Given the description of an element on the screen output the (x, y) to click on. 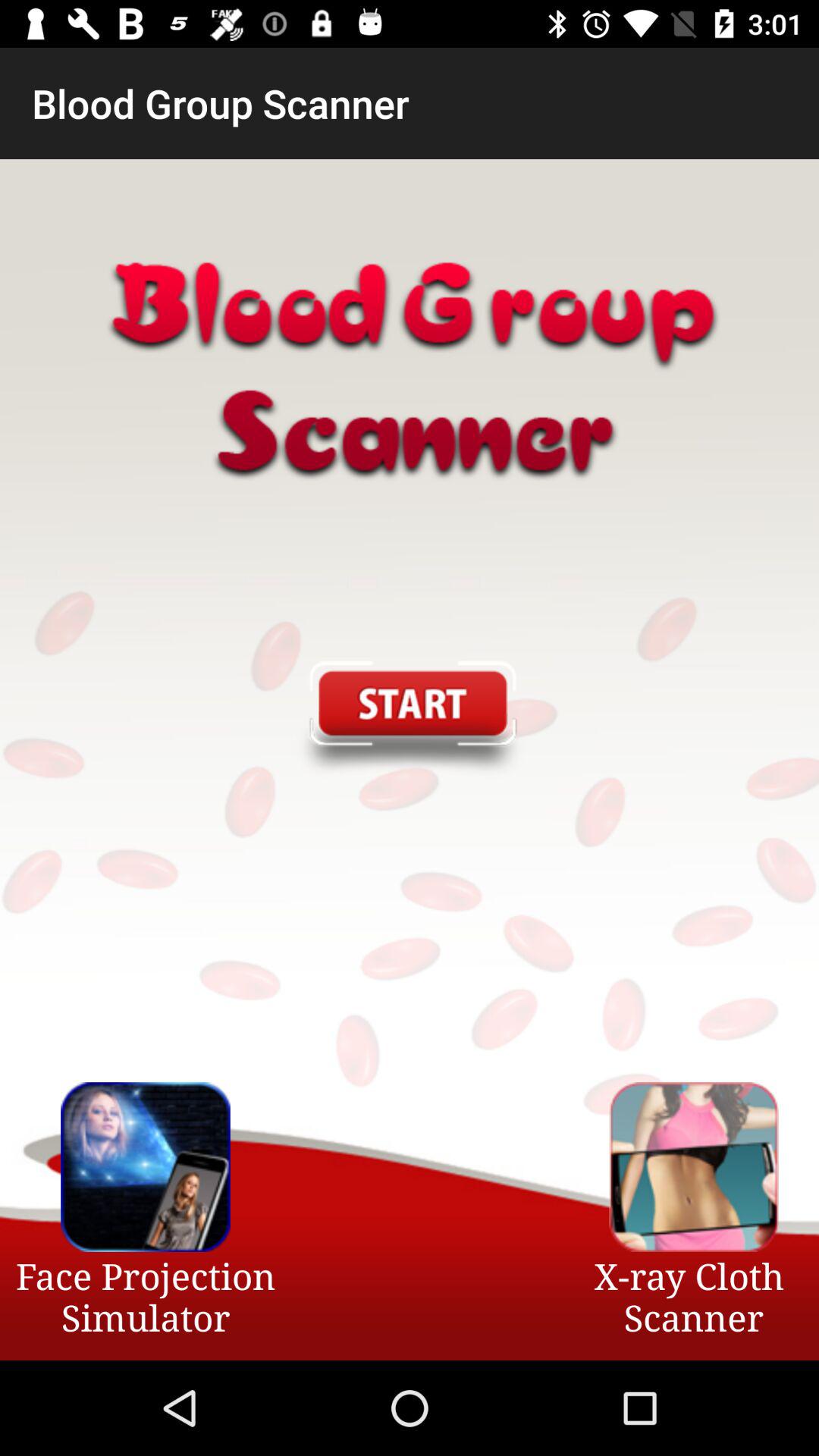
start scanner (409, 719)
